Given the description of an element on the screen output the (x, y) to click on. 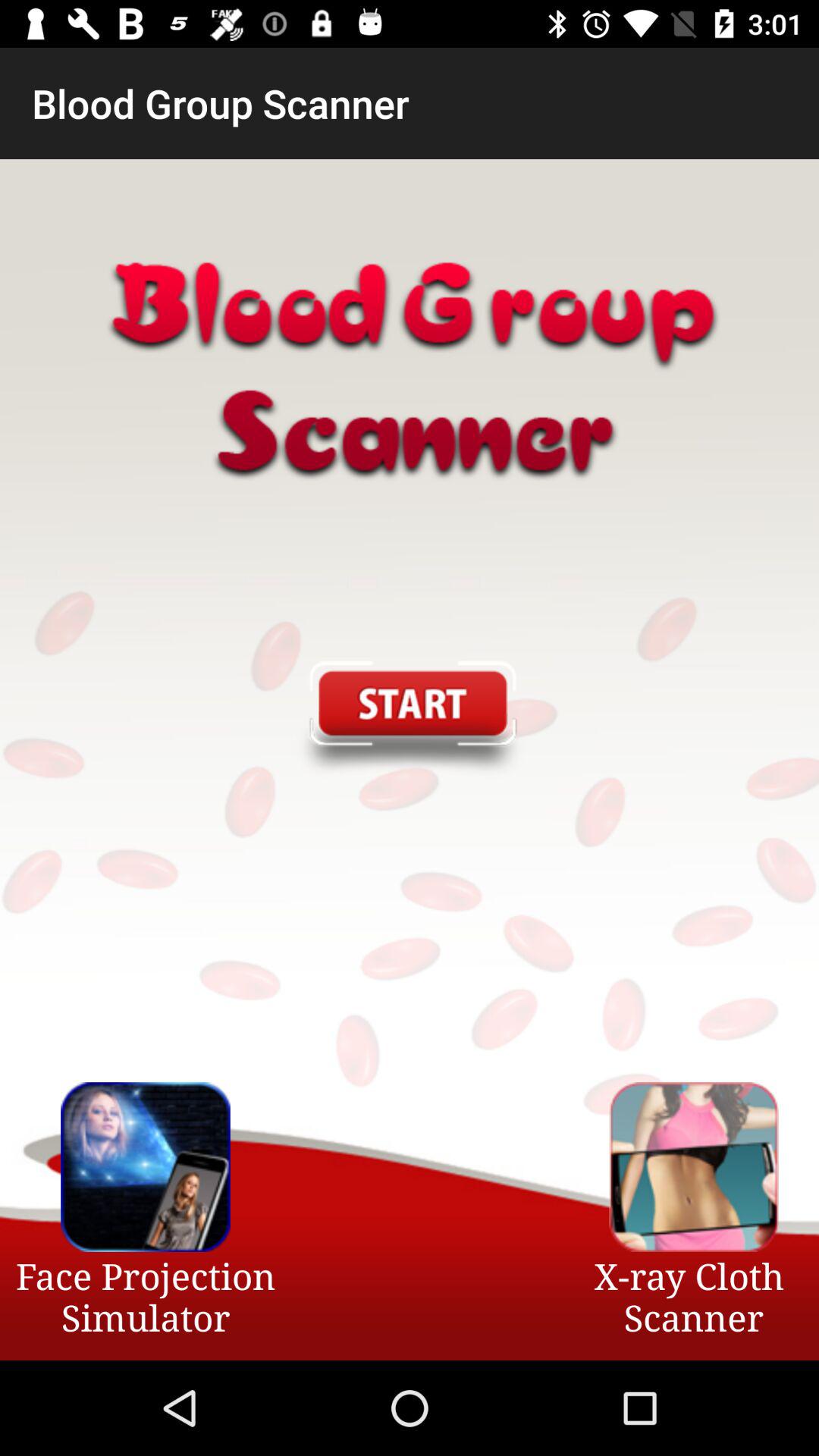
start scanner (409, 719)
